Given the description of an element on the screen output the (x, y) to click on. 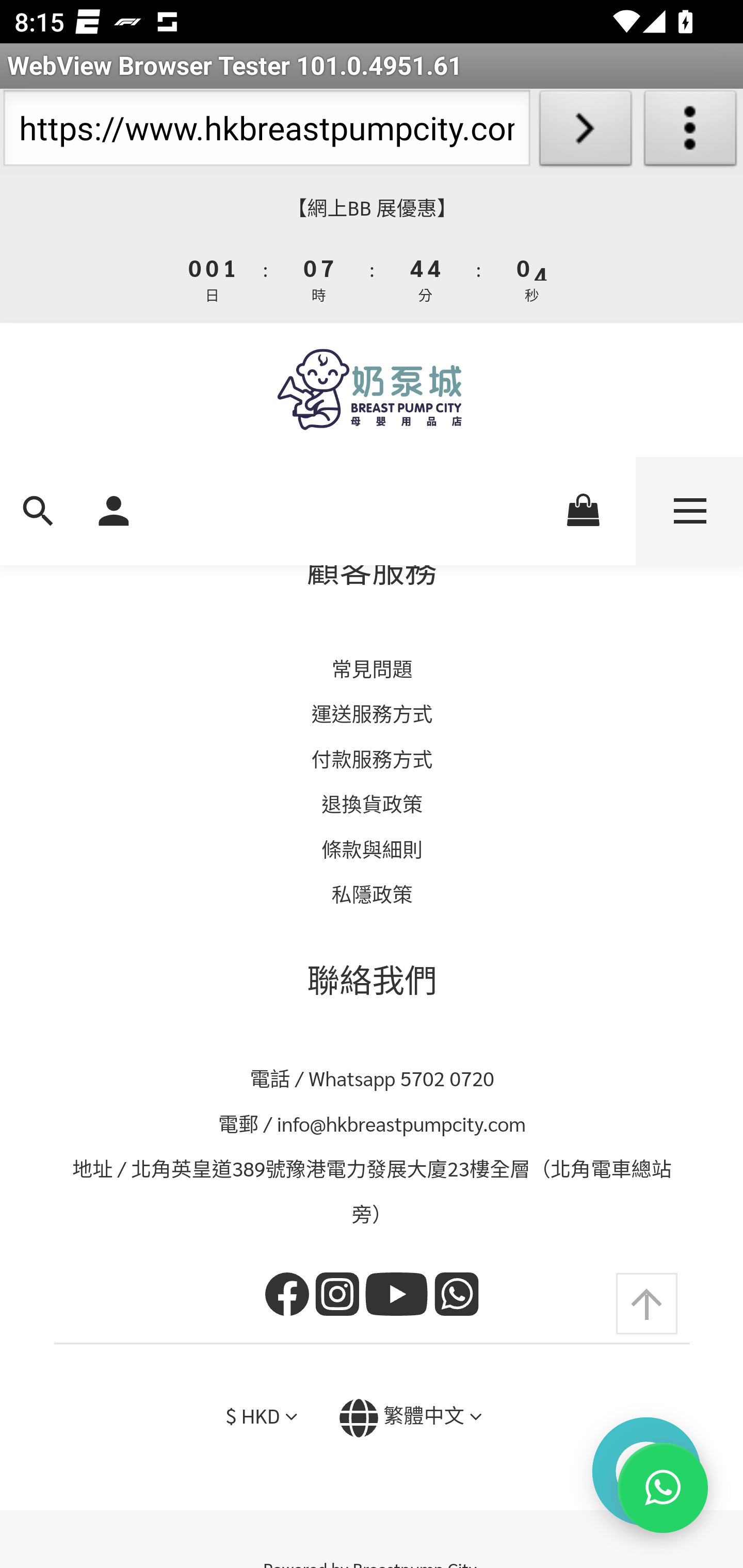
Load URL (585, 132)
About WebView (690, 132)
【網上BB 展優惠】 (371, 208)
3 2 1 0 3 2 1 0 4 3 2 1 0 日 (213, 277)
3 2 1 0 9 8 7 6 5 4 3 2 1 0 時 (318, 277)
7 6 5 4 3 2 1 0 7 6 5 4 3 2 1 0 分 (425, 277)
3 2 1 0 8 7 6 5 4 3 2 1 0 秒 (530, 277)
594x (371, 390)
sign_in (113, 508)
常見問題 (371, 667)
運送服務方式 (371, 713)
付款服務方式 (371, 758)
退換貨政策 (372, 804)
條款與細則 (372, 848)
私隱政策 (371, 894)
電話 / Whatsapp 5702 0720 (372, 1076)
電郵 / info@hkbreastpumpcity.com (372, 1123)
地址 / 北角英皇道389號豫港電力發展大廈23樓全層（北角電車總站旁） (372, 1191)
hk (289, 1296)
hkbreastpumpcity (340, 1296)
UCOya9do7lj-4xbkW39OUUfQ (399, 1296)
繁體中文  (410, 1418)
$   HKD  (261, 1415)
